Given the description of an element on the screen output the (x, y) to click on. 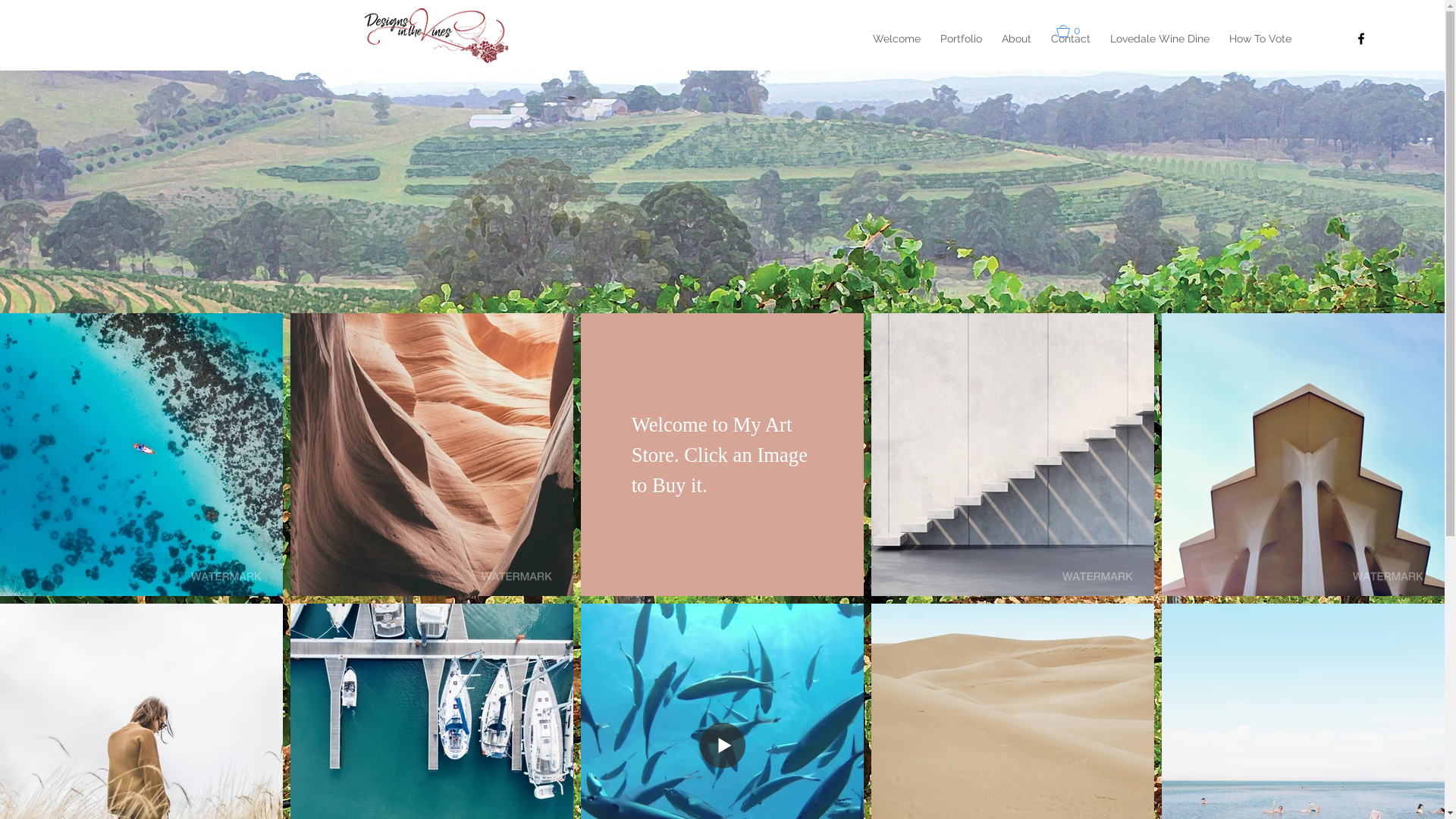
Lovedale Wine Dine Element type: text (1159, 38)
Welcome Element type: text (896, 38)
Contact Element type: text (1070, 38)
About Element type: text (1016, 38)
Portfolio Element type: text (960, 38)
How To Vote Element type: text (1260, 38)
